Given the description of an element on the screen output the (x, y) to click on. 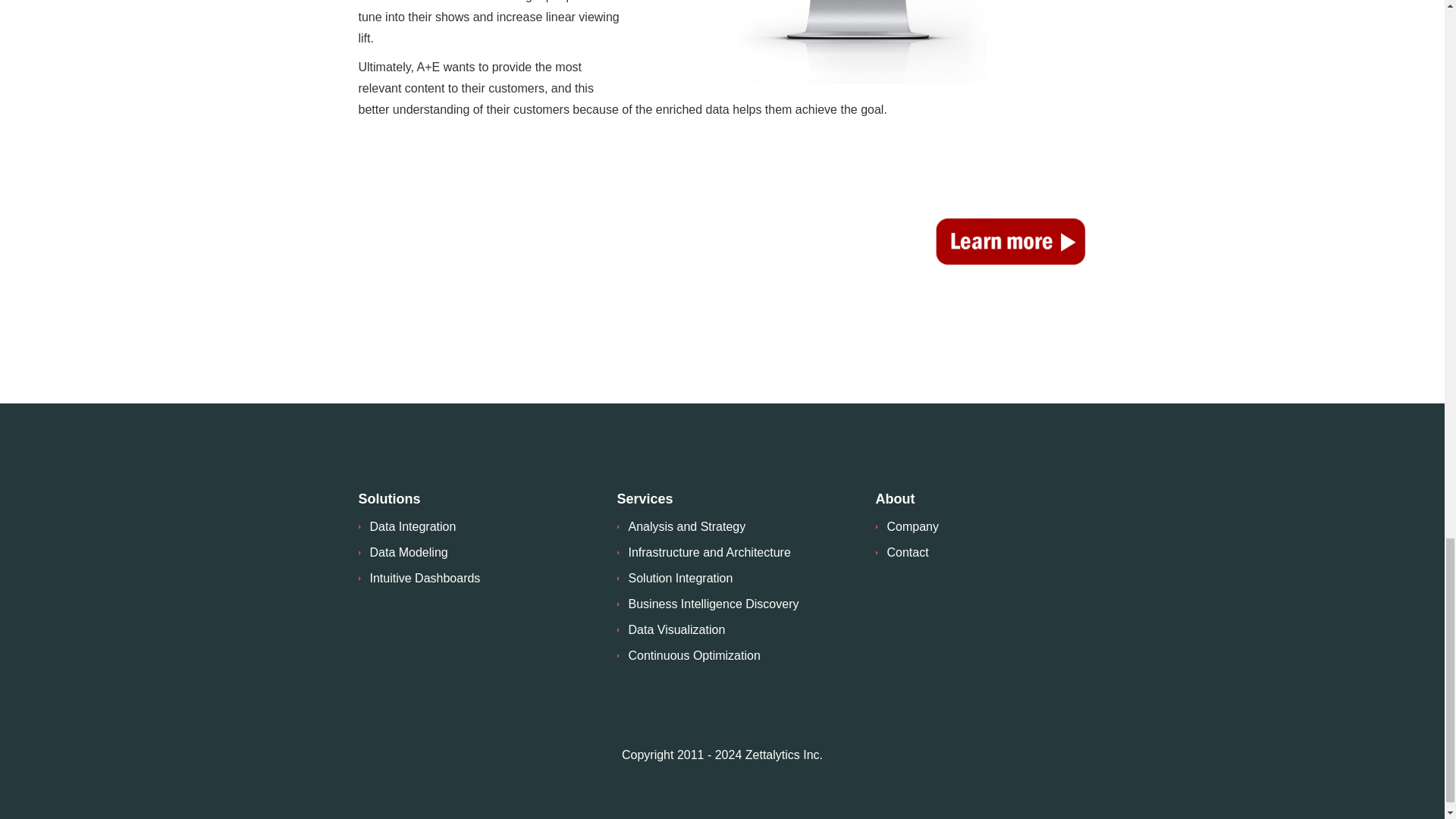
Data Modeling (408, 552)
Contact (907, 552)
Solution Integration (679, 577)
Continuous Optimization (693, 655)
Business Intelligence Discovery (712, 603)
Data Integration (413, 526)
Intuitive Dashboards (424, 577)
Company (912, 526)
Data Visualization (676, 629)
Infrastructure and Architecture (708, 552)
